Given the description of an element on the screen output the (x, y) to click on. 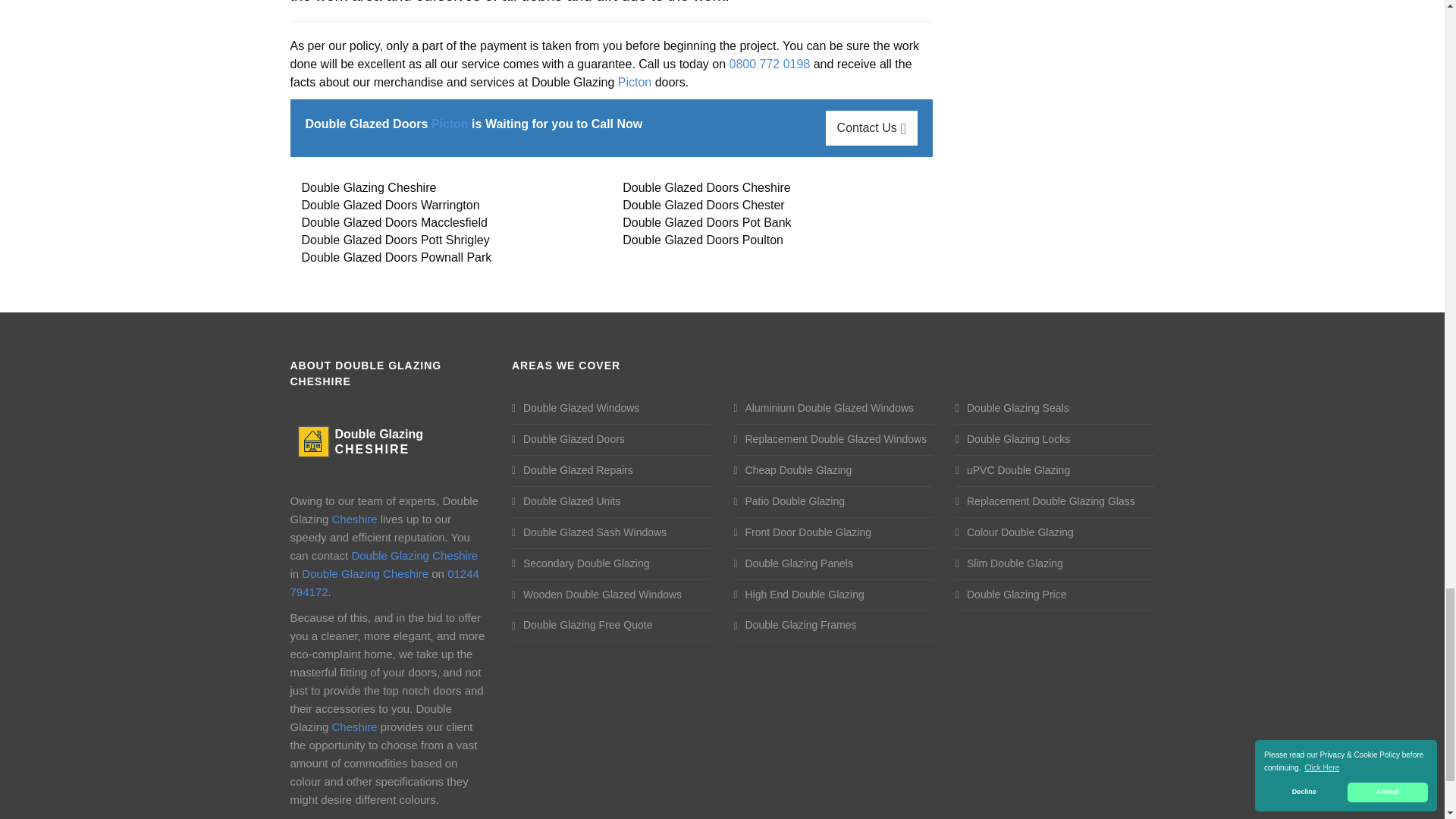
Double Glazing Cheshire (365, 440)
